Given the description of an element on the screen output the (x, y) to click on. 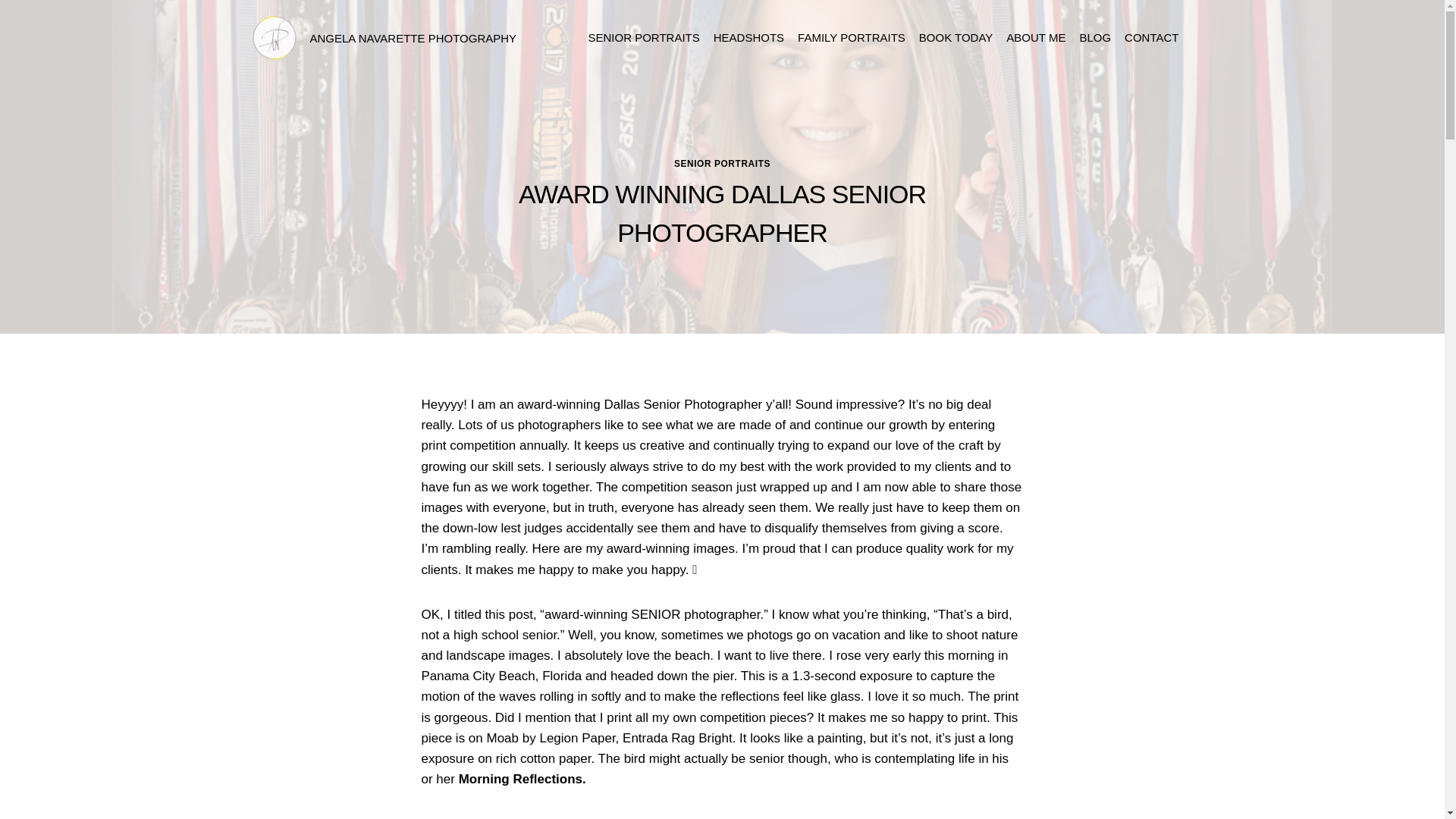
ANGELA NAVARETTE PHOTOGRAPHY (383, 37)
BOOK TODAY (956, 37)
SENIOR PORTRAITS (643, 37)
CONTACT (1151, 37)
FAMILY PORTRAITS (851, 37)
SENIOR PORTRAITS (722, 163)
HEADSHOTS (748, 37)
BLOG (1094, 37)
ABOUT ME (1034, 37)
